Given the description of an element on the screen output the (x, y) to click on. 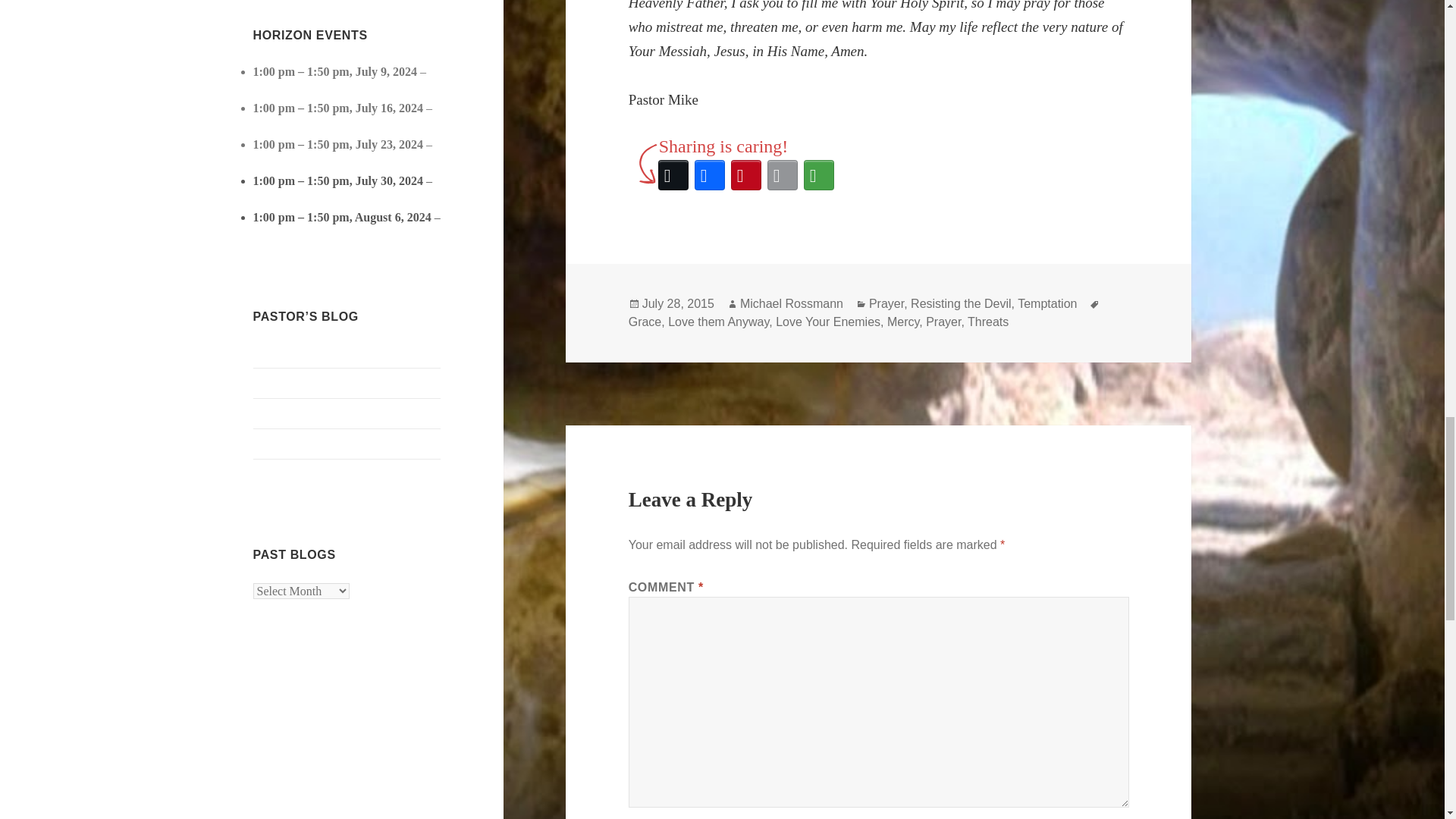
More Options (818, 175)
Email This (782, 175)
Pinterest (746, 175)
Facebook (709, 175)
